Given the description of an element on the screen output the (x, y) to click on. 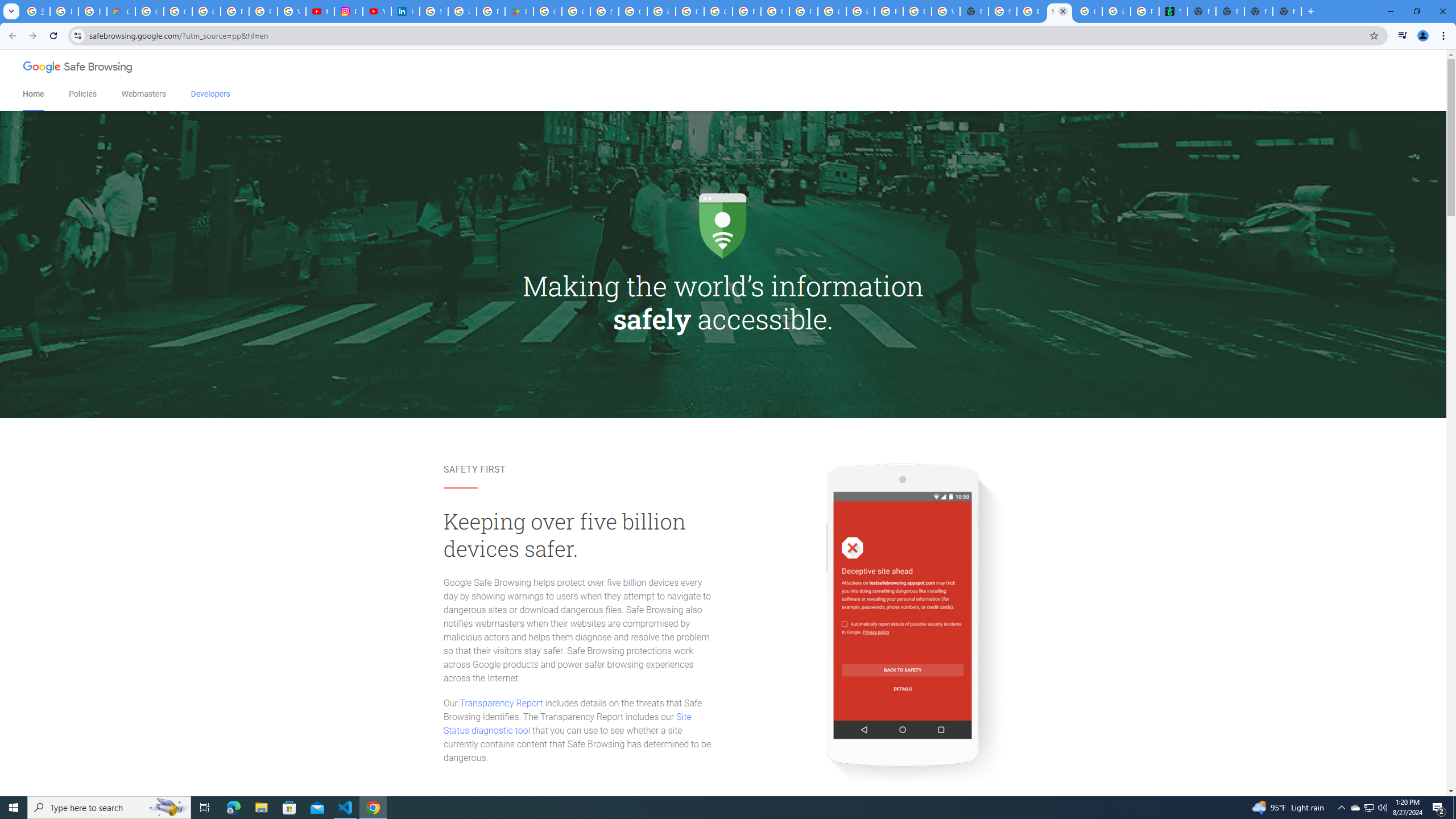
Policies (82, 94)
Developers (210, 94)
Sign in - Google Accounts (433, 11)
